Given the description of an element on the screen output the (x, y) to click on. 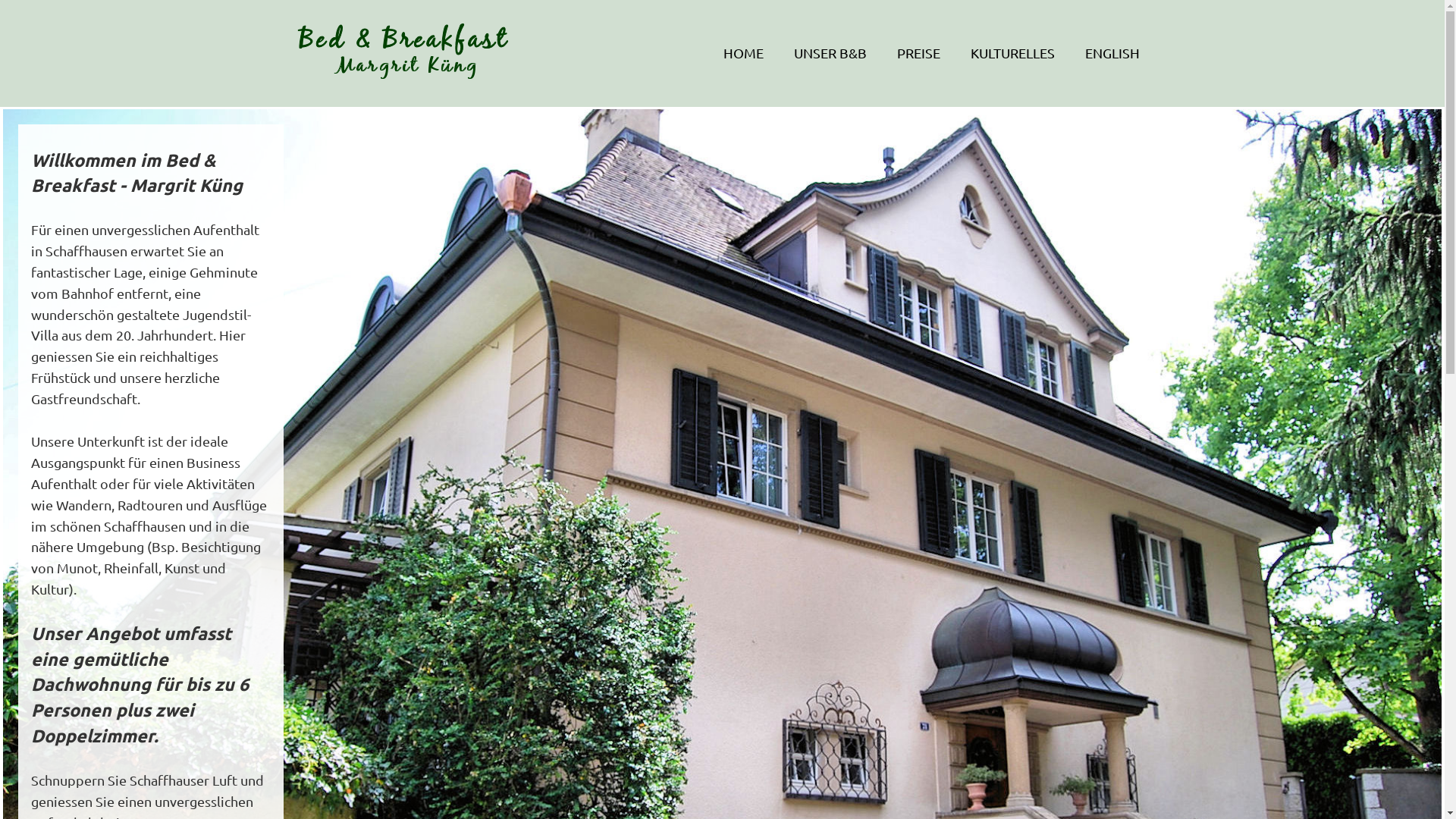
PREISE Element type: text (917, 53)
ENGLISH Element type: text (1111, 53)
UNSER B&B Element type: text (829, 53)
KULTURELLES Element type: text (1012, 53)
HOME Element type: text (743, 53)
